Given the description of an element on the screen output the (x, y) to click on. 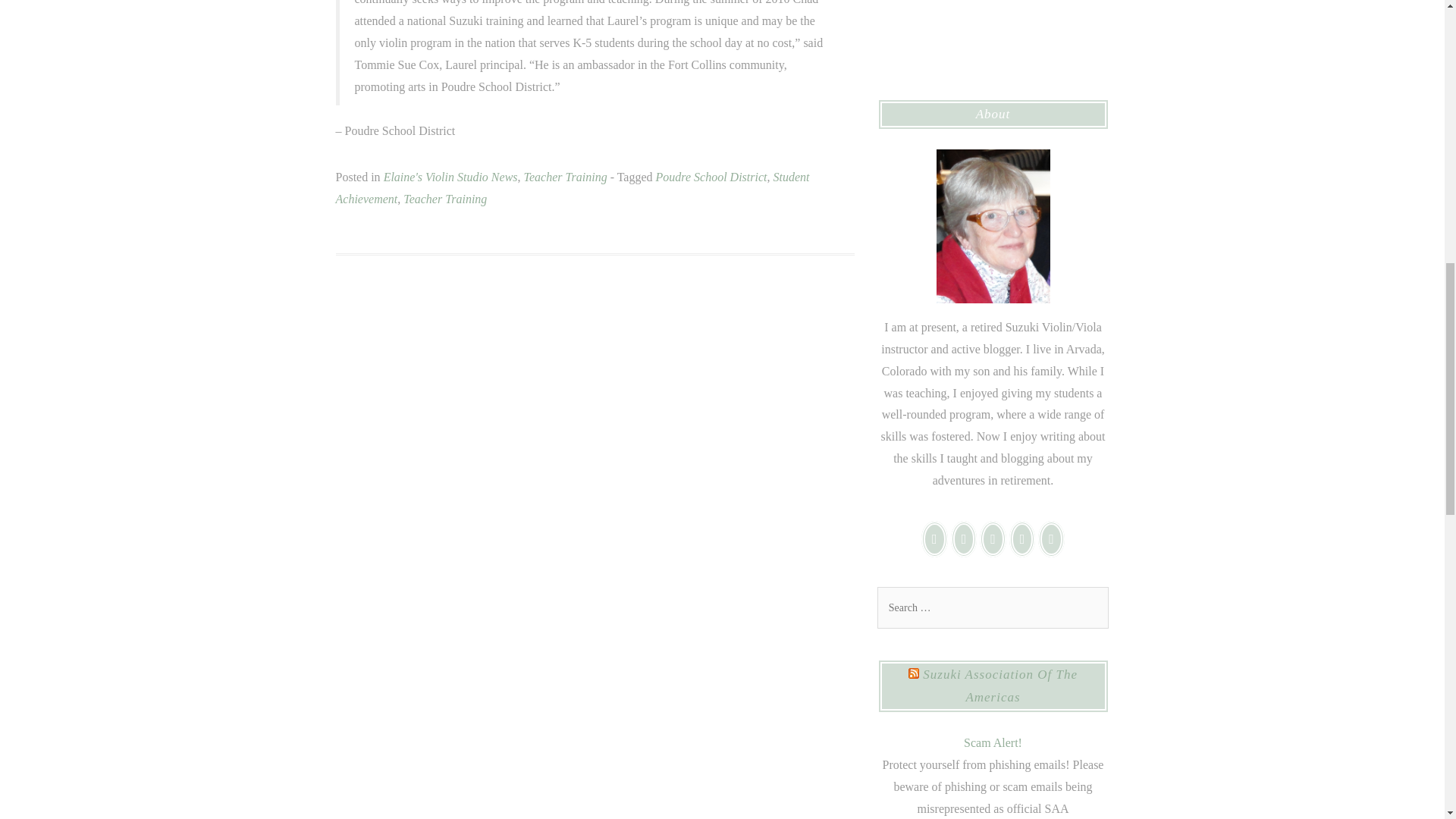
Suzuki Association Of The Americas (1000, 685)
Elaine's Violin Studio News (451, 176)
Student Achievement (571, 187)
Poudre School District (711, 176)
Teacher Training (444, 198)
Teacher Training (565, 176)
Scam Alert! (992, 742)
